Given the description of an element on the screen output the (x, y) to click on. 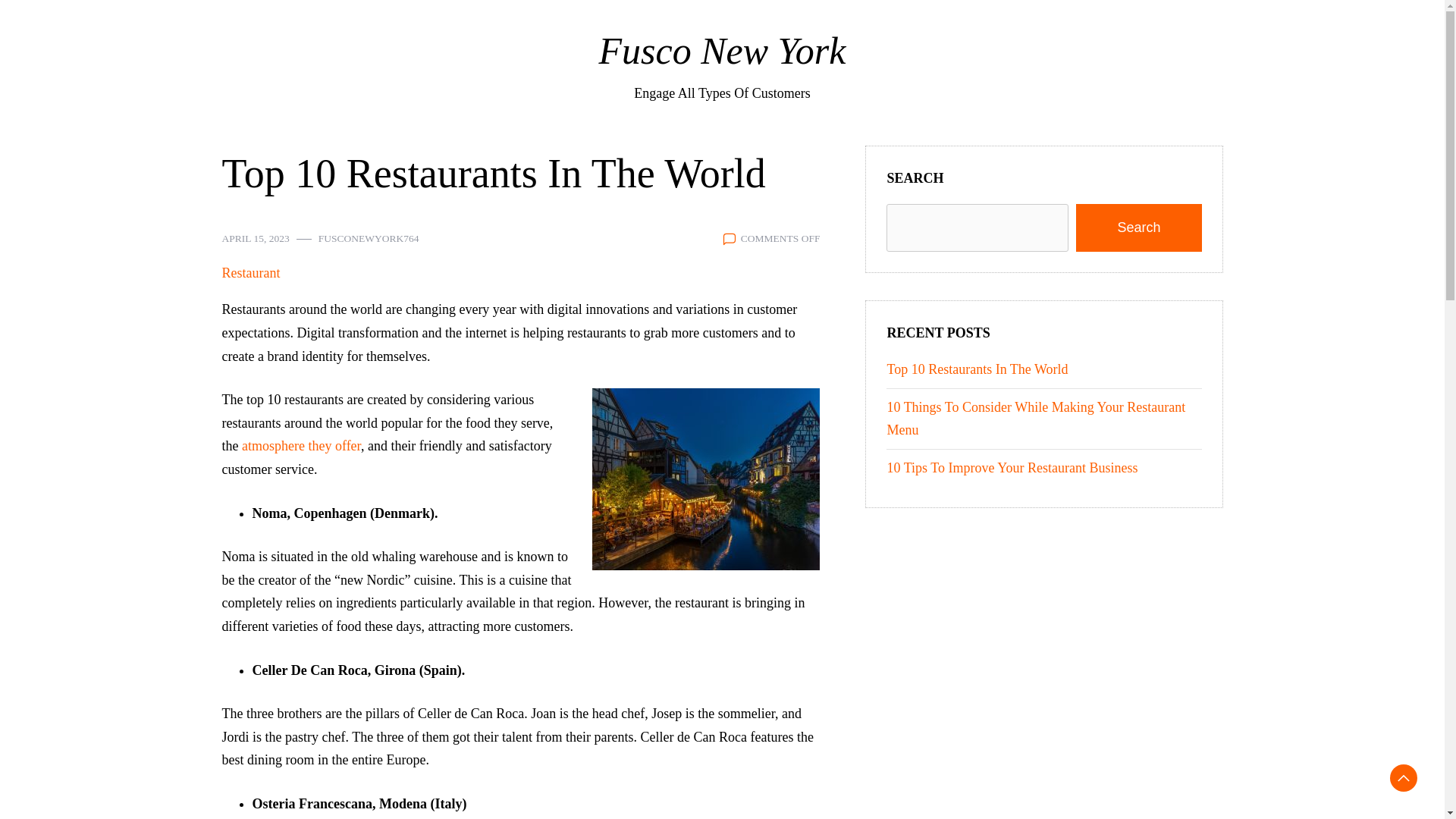
10 Tips To Improve Your Restaurant Business (1011, 467)
FUSCONEWYORK764 (368, 239)
atmosphere they offer (301, 445)
10 Things To Consider While Making Your Restaurant Menu (1035, 418)
APRIL 15, 2023 (254, 239)
Restaurant (250, 273)
Fusco New York (721, 50)
Top 10 Restaurants In The World (976, 368)
Search (1138, 227)
